Given the description of an element on the screen output the (x, y) to click on. 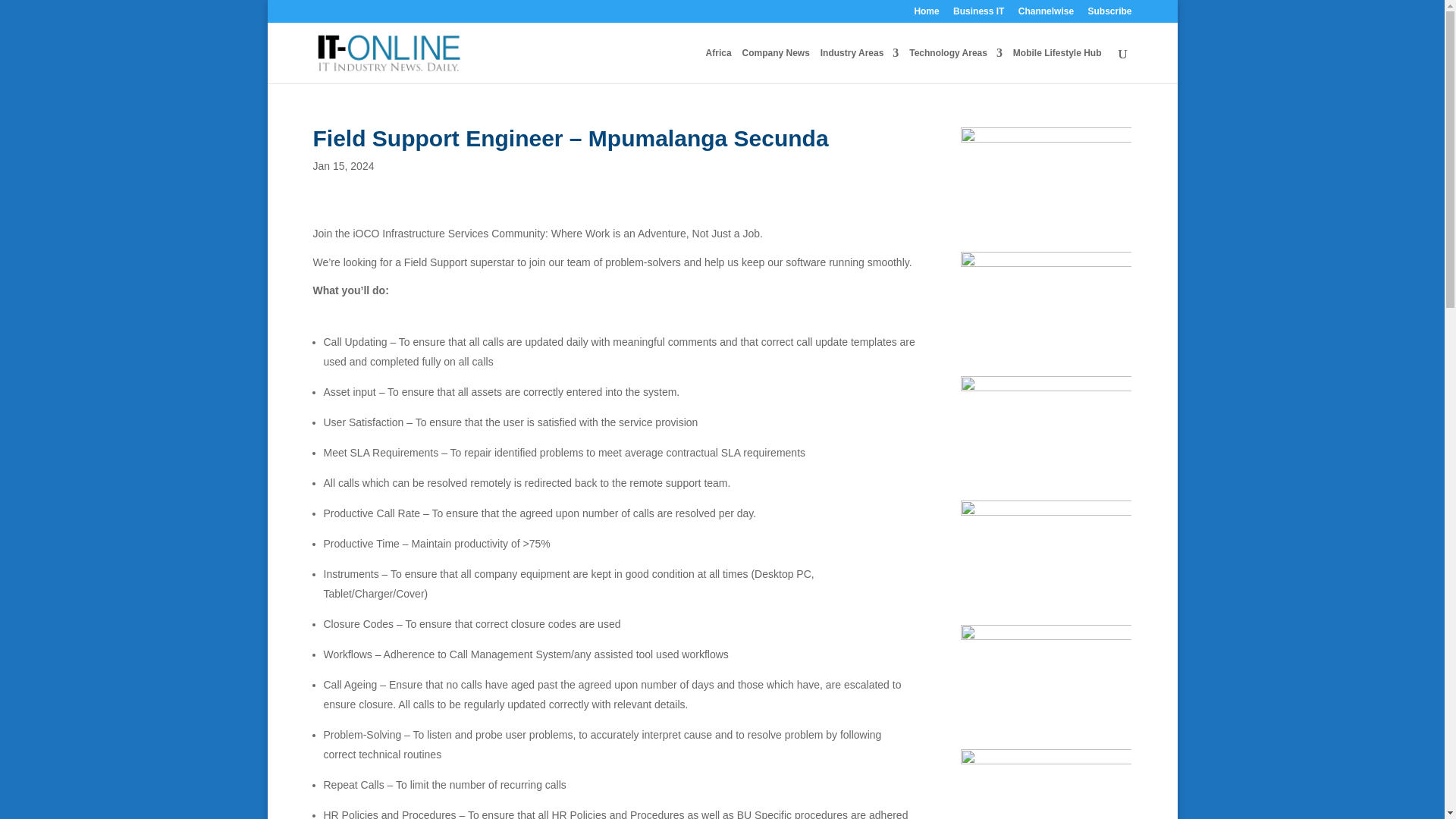
Technology Areas (955, 65)
Industry Areas (860, 65)
Company News (775, 65)
Channelwise (1045, 14)
Subscribe (1109, 14)
Business IT (978, 14)
Home (926, 14)
